Given the description of an element on the screen output the (x, y) to click on. 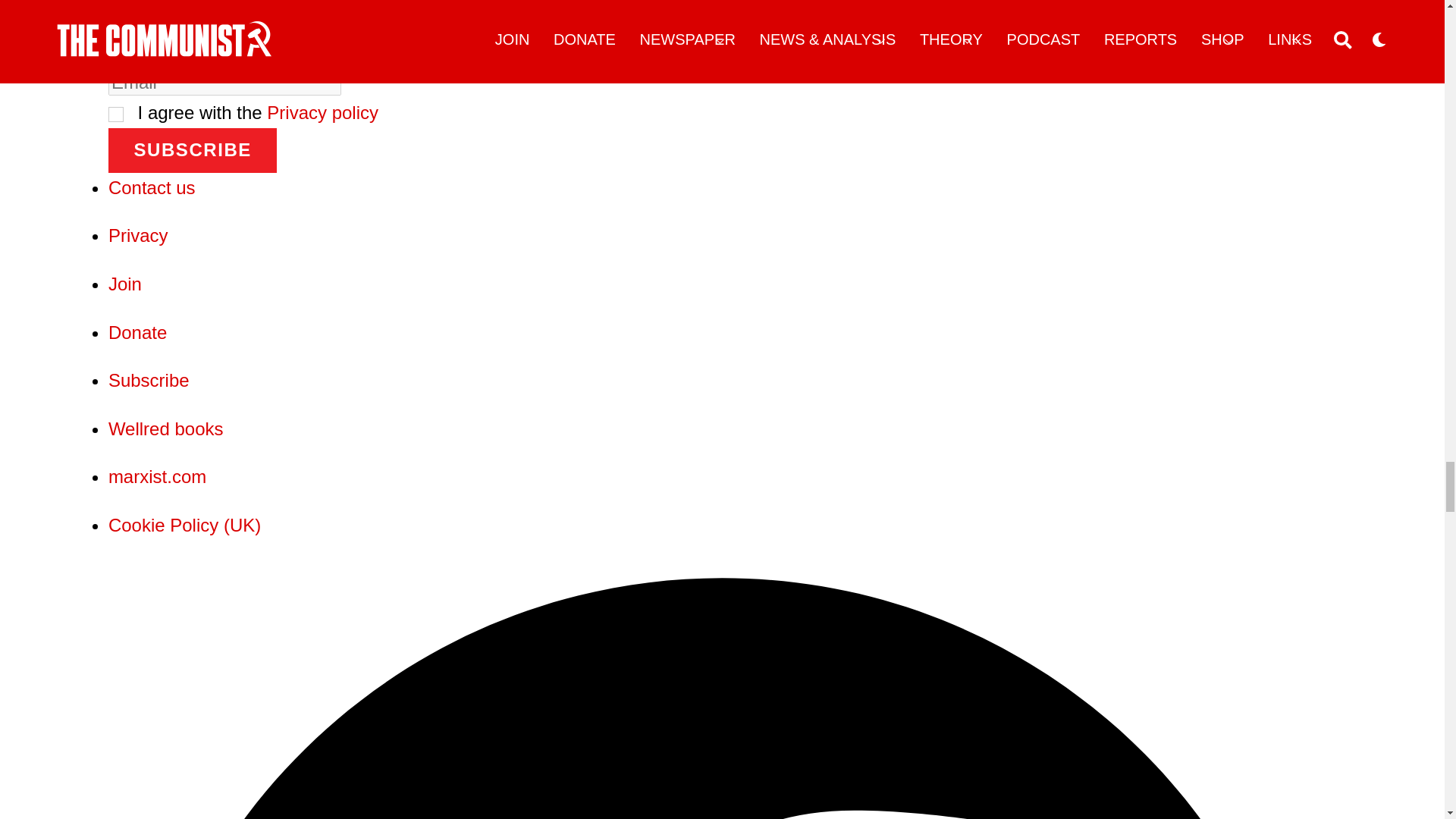
on (115, 114)
Terms and conditions (115, 114)
Privacy policy (322, 112)
